Given the description of an element on the screen output the (x, y) to click on. 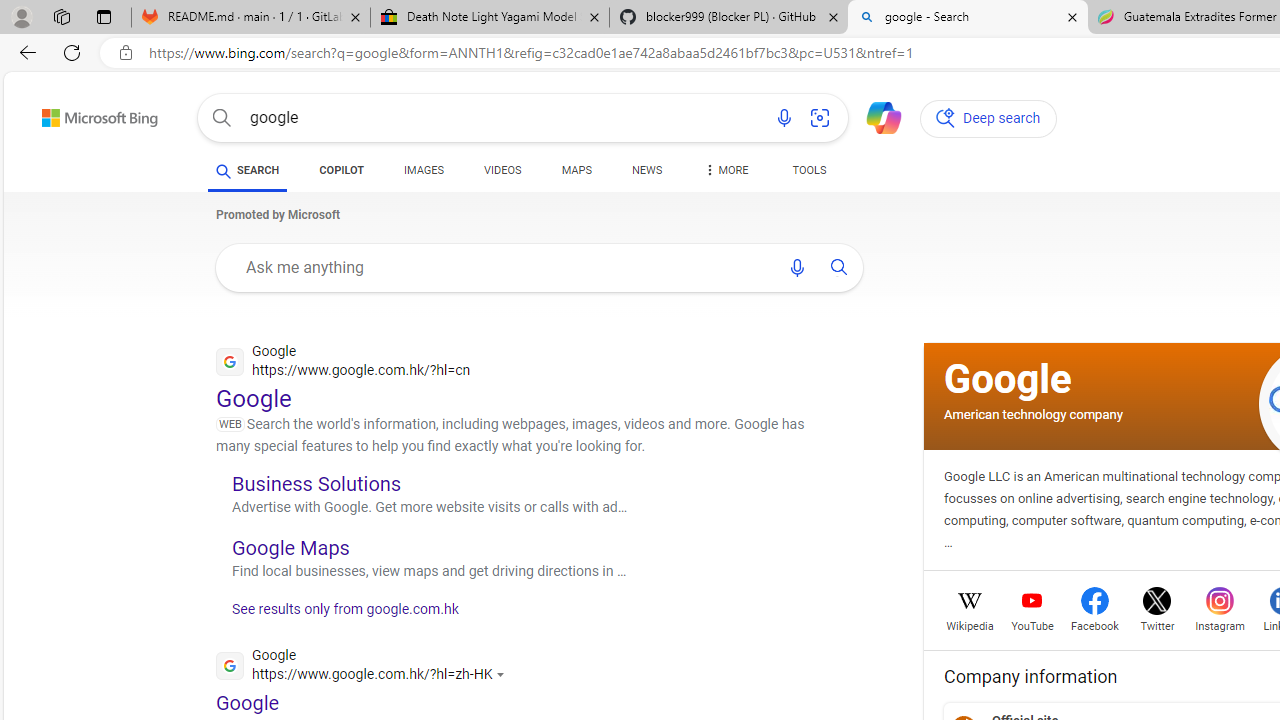
SEARCH (247, 170)
Google Maps (290, 547)
View site information (125, 53)
Personal Profile (21, 16)
Search (221, 117)
google - Search (967, 17)
YouTube (1032, 624)
Chat (875, 116)
